Given the description of an element on the screen output the (x, y) to click on. 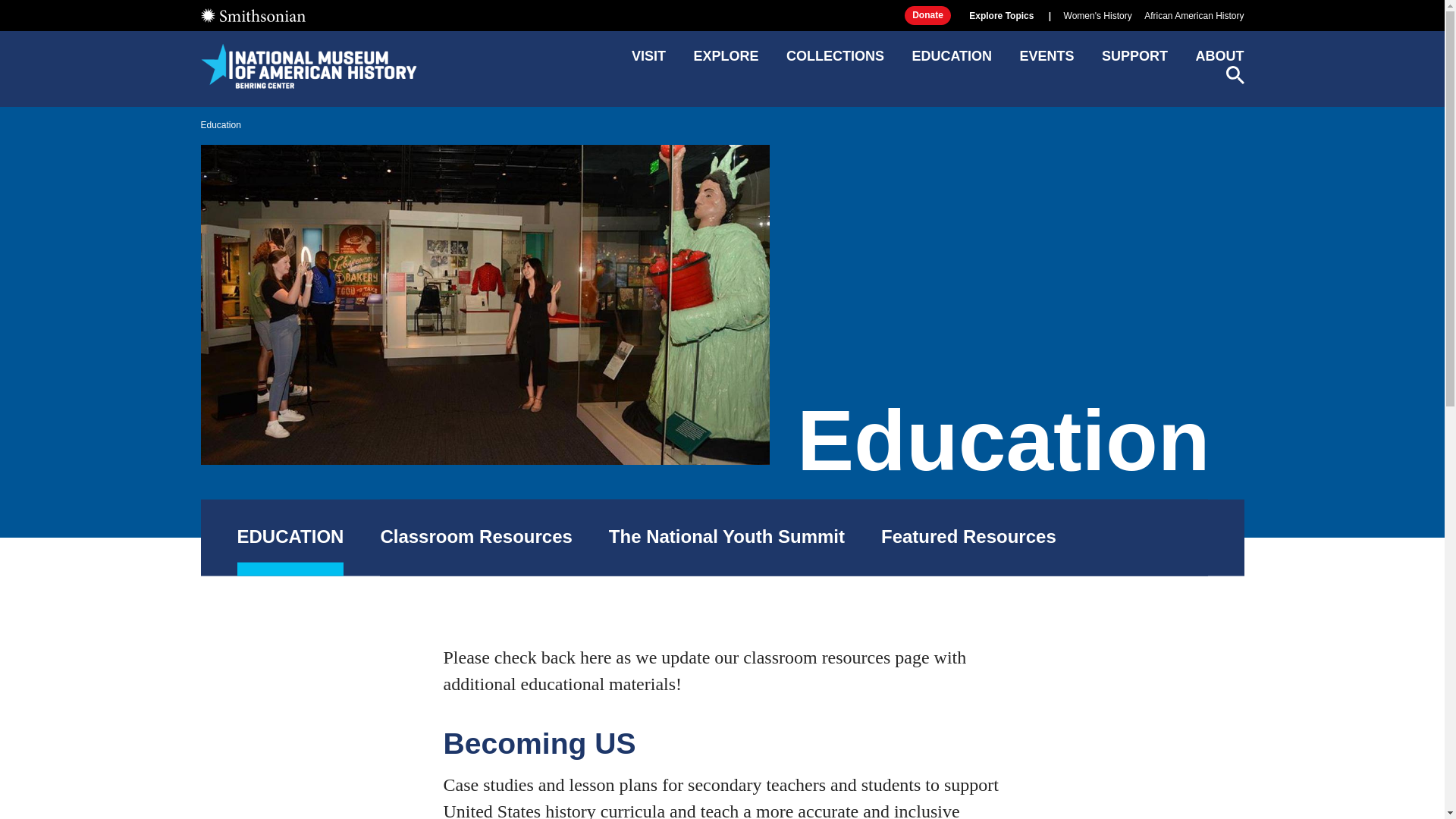
ABOUT (1219, 60)
Classroom Resources (476, 537)
Women's History (1098, 15)
EDUCATION (289, 537)
SUPPORT (1134, 60)
African American History (1193, 15)
EDUCATION (951, 60)
Skip to main content (721, 12)
EVENTS (1047, 60)
EXPLORE (725, 60)
